Given the description of an element on the screen output the (x, y) to click on. 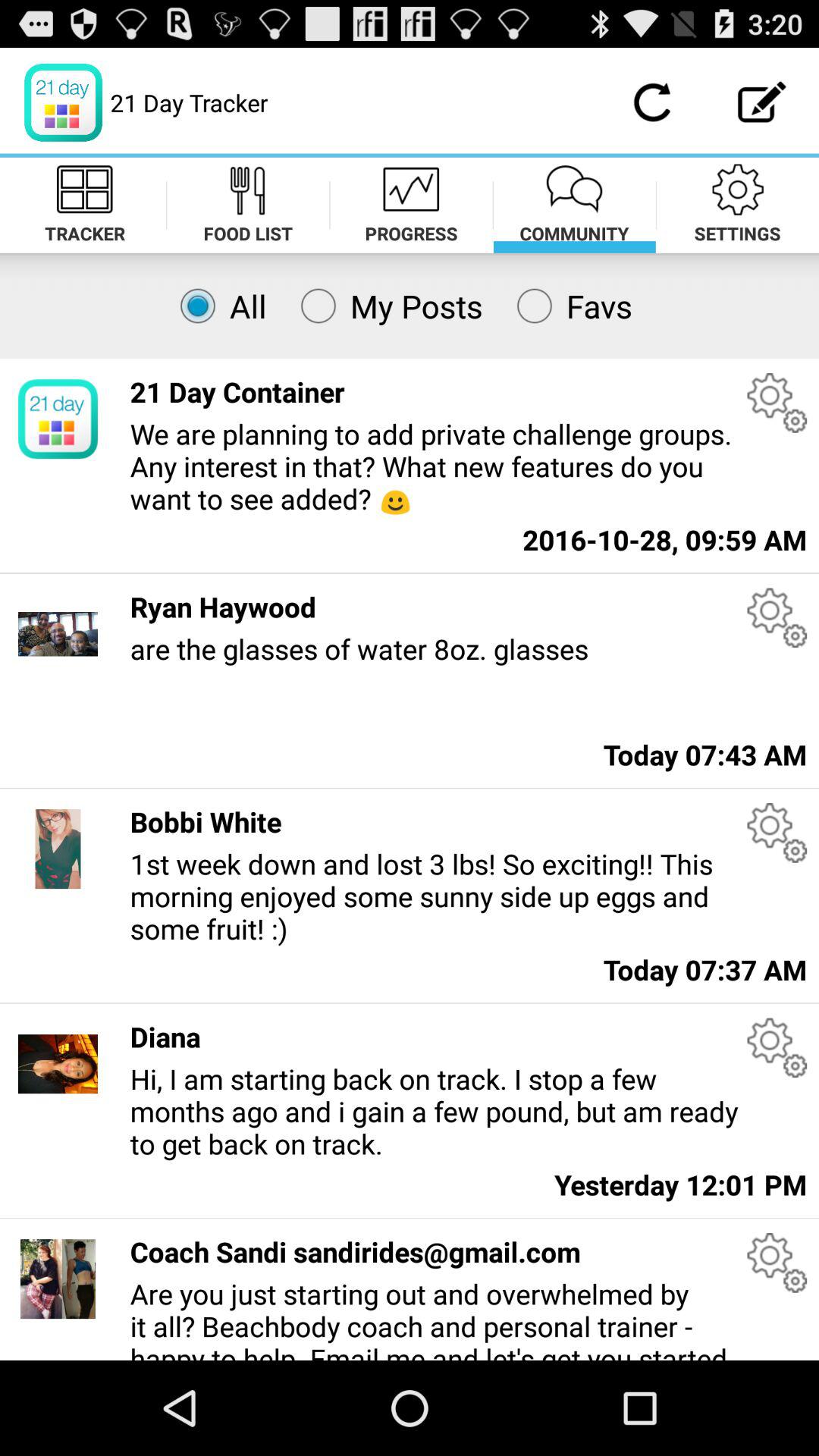
refresh page (651, 102)
